Given the description of an element on the screen output the (x, y) to click on. 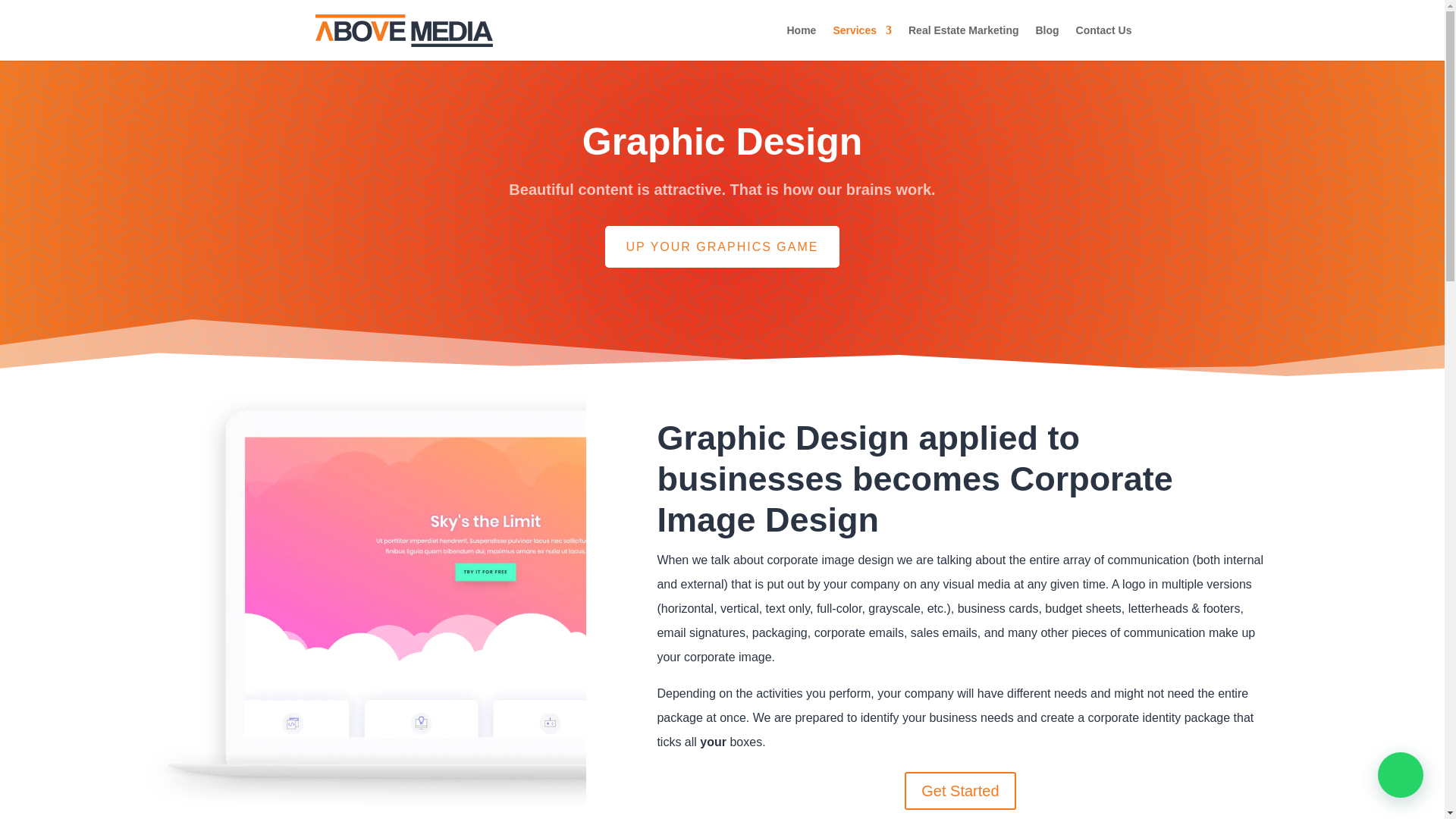
Get Started (959, 790)
Services (861, 42)
Contact Us (1103, 42)
Real Estate Marketing (963, 42)
UP YOUR GRAPHICS GAME (722, 246)
